Given the description of an element on the screen output the (x, y) to click on. 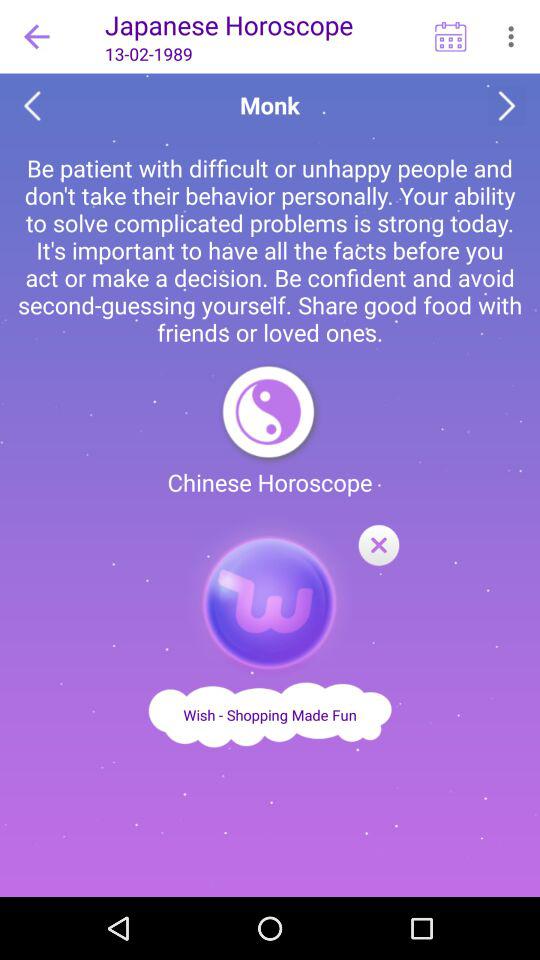
wish shopping made fun (269, 714)
